Given the description of an element on the screen output the (x, y) to click on. 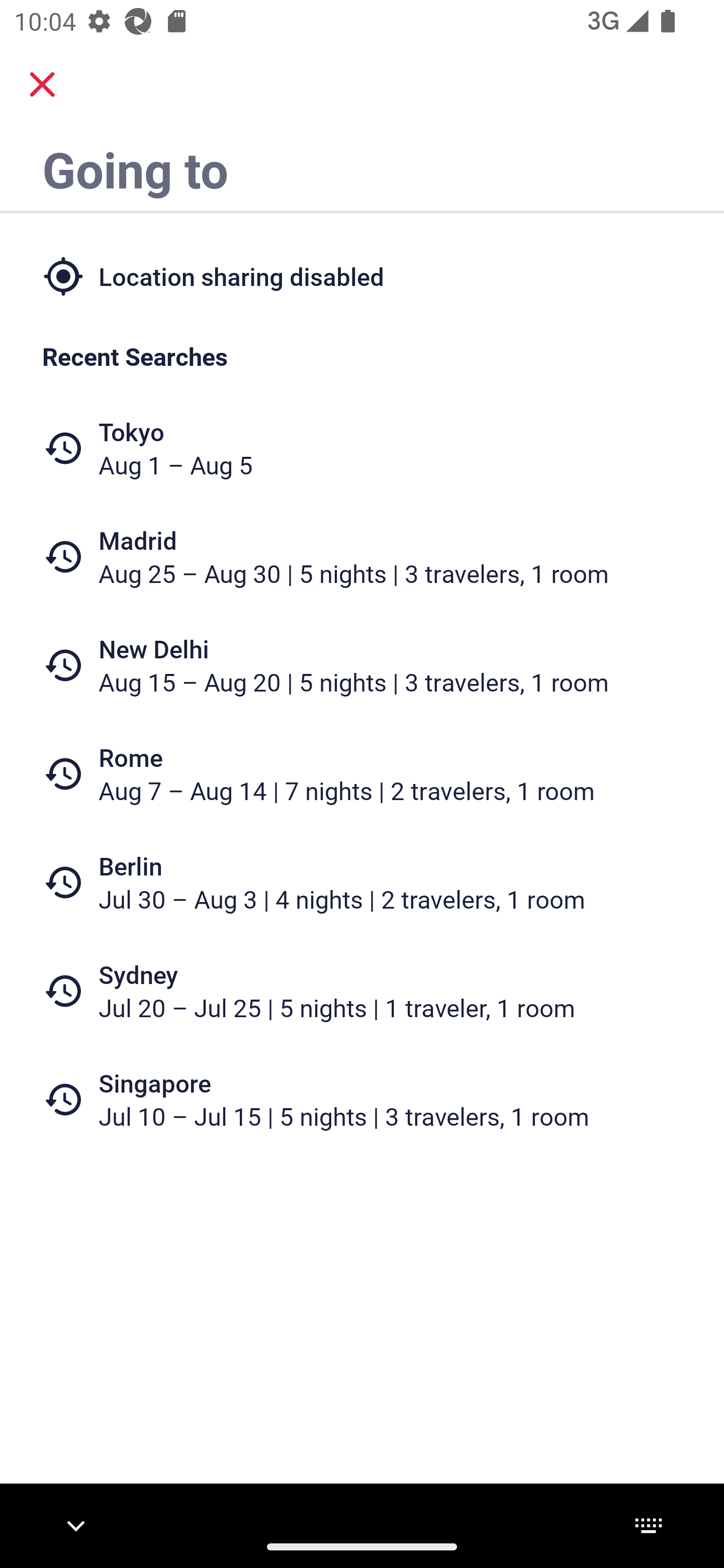
close. (42, 84)
Location sharing disabled (362, 275)
Tokyo Aug 1 – Aug 5 (362, 448)
